Given the description of an element on the screen output the (x, y) to click on. 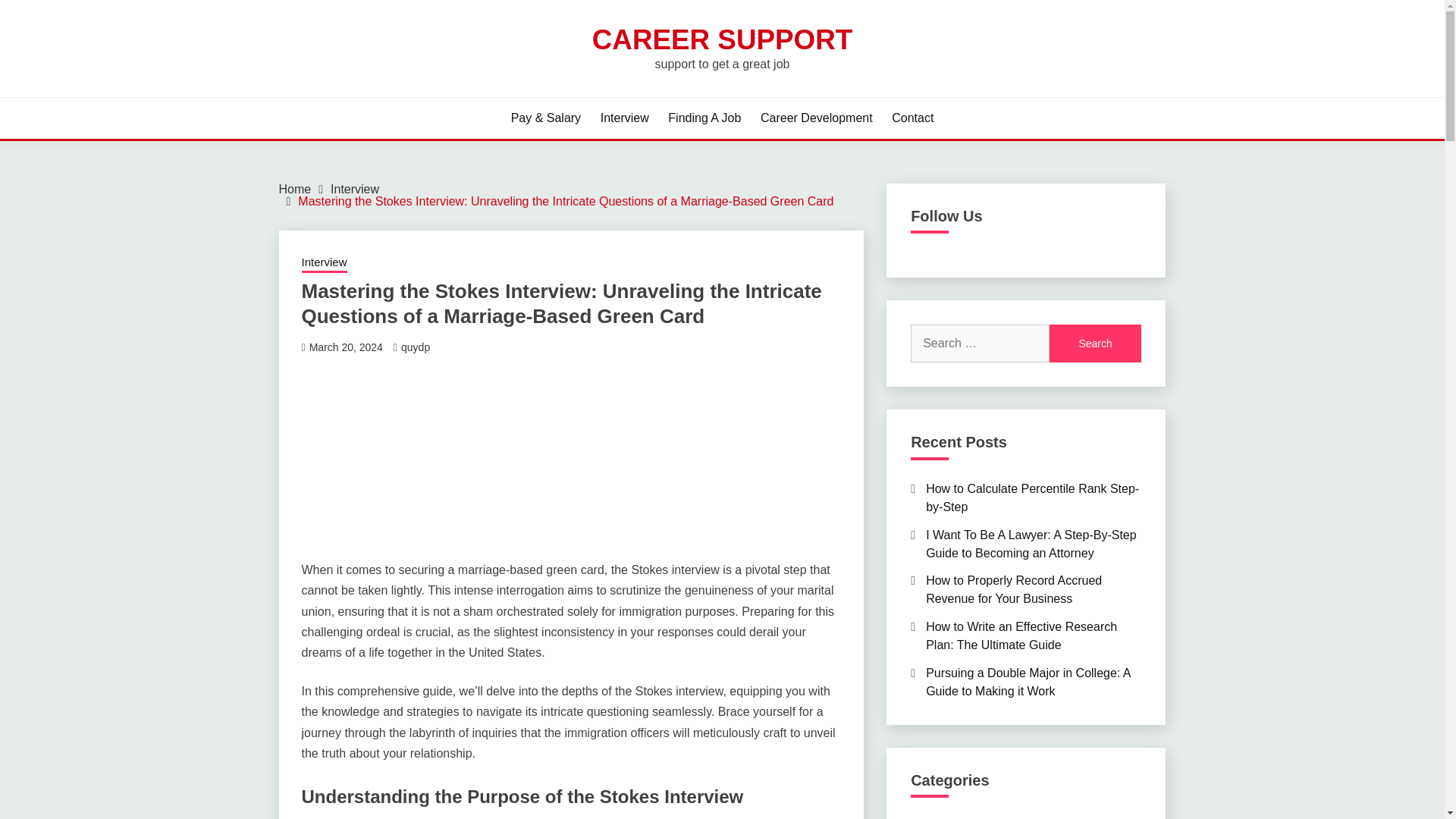
Contact (912, 117)
March 20, 2024 (345, 346)
Search (832, 18)
Career Development (816, 117)
Search (1095, 343)
Home (295, 188)
Interview (354, 188)
CAREER SUPPORT (721, 39)
Search (1095, 343)
